Given the description of an element on the screen output the (x, y) to click on. 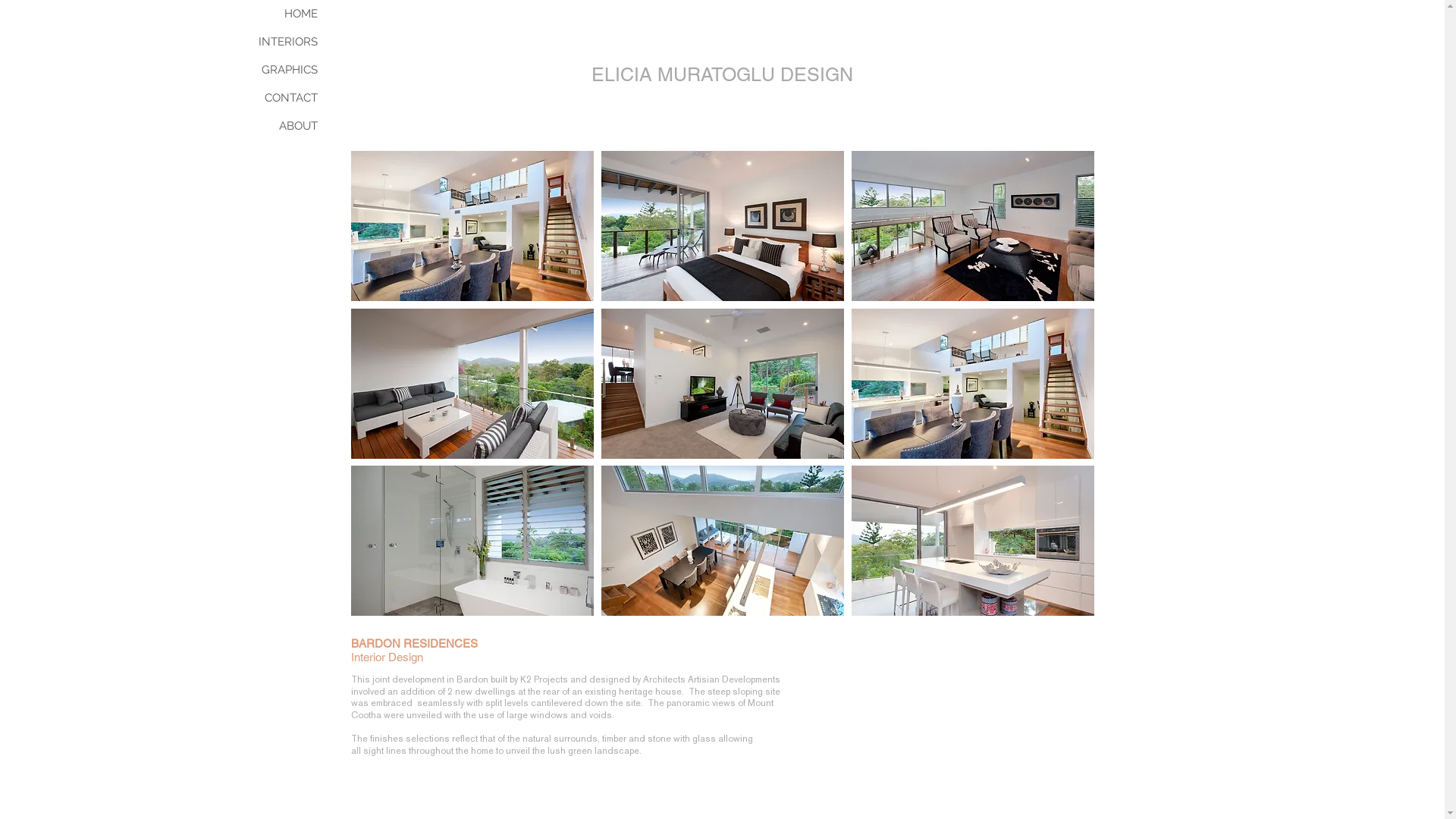
CONTACT Element type: text (280, 98)
ABOUT Element type: text (280, 126)
GRAPHICS Element type: text (280, 70)
INTERIORS Element type: text (280, 42)
HOME Element type: text (280, 14)
